Given the description of an element on the screen output the (x, y) to click on. 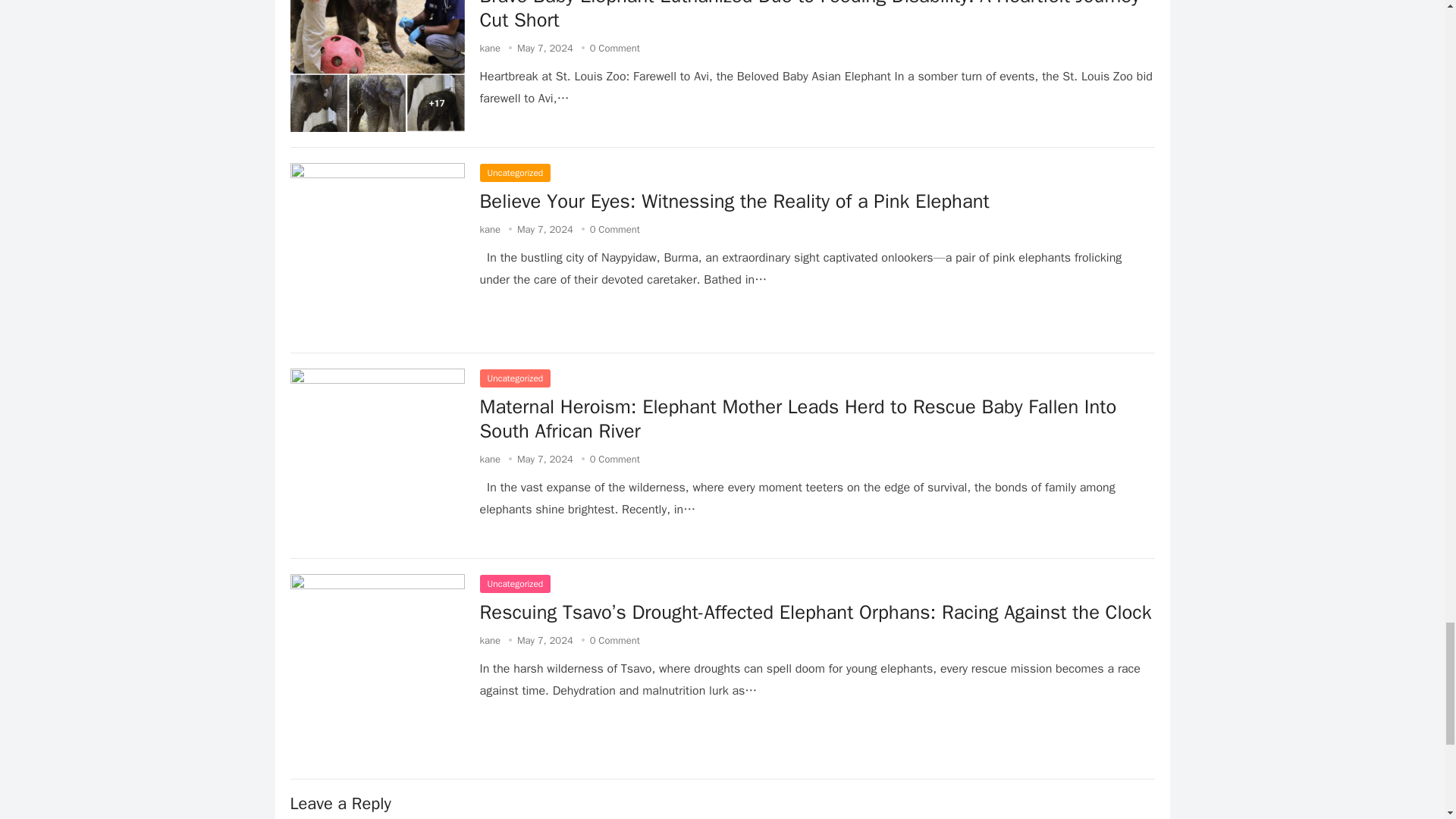
Posts by kane (489, 228)
Uncategorized (514, 172)
Posts by kane (489, 640)
Believe Your Eyes: Witnessing the Reality of a Pink Elephant (733, 201)
Posts by kane (489, 47)
Posts by kane (489, 459)
0 Comment (614, 47)
kane (489, 47)
